Given the description of an element on the screen output the (x, y) to click on. 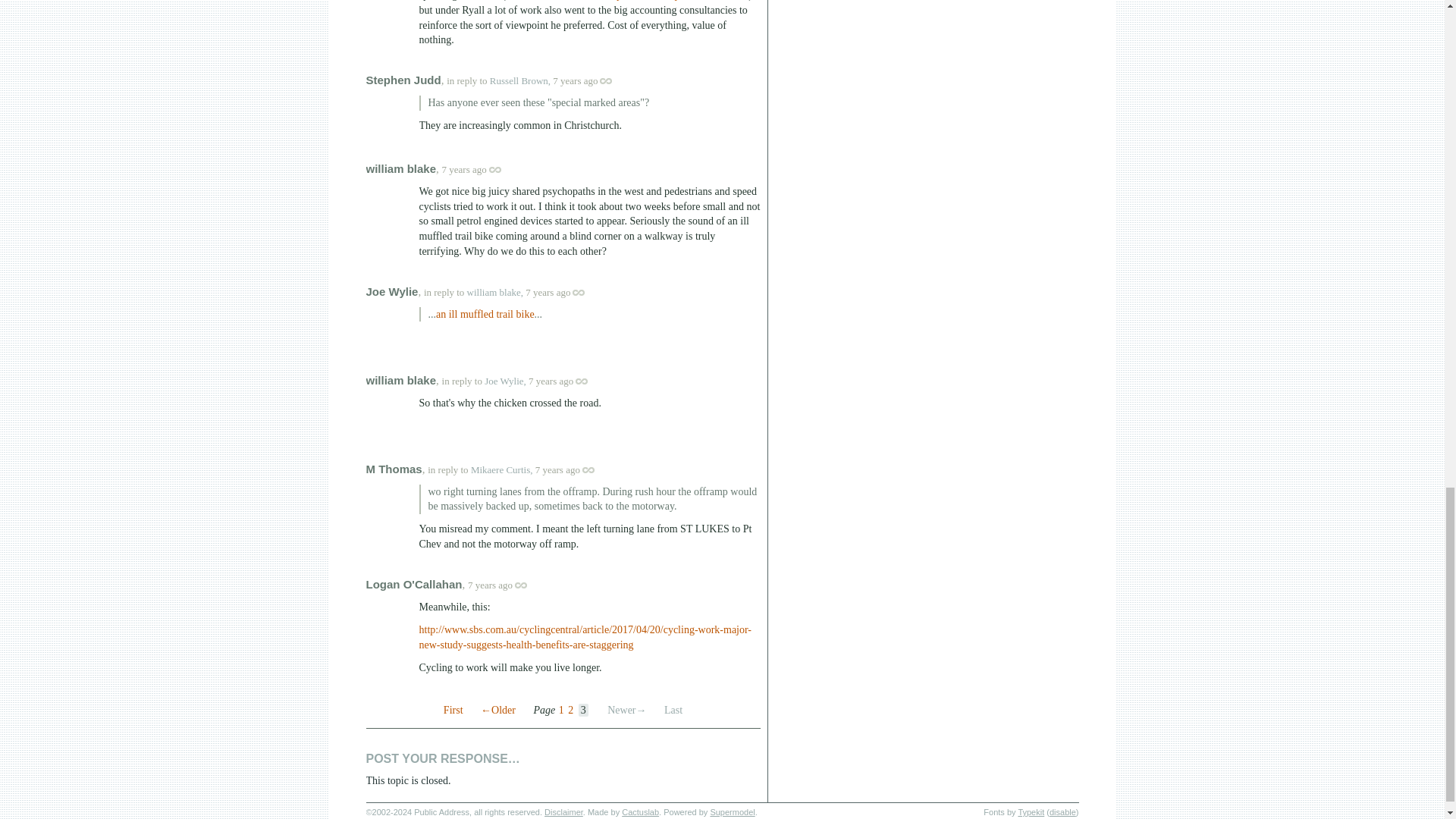
william blake (400, 168)
Stephen Judd (403, 79)
12:01 Apr 24, 2017 (574, 80)
14:55 Apr 24, 2017 (547, 292)
08:50 Apr 25, 2017 (550, 380)
Joe Wylie (391, 291)
7 years ago (590, 80)
10:54 Apr 30, 2017 (489, 584)
william blake, (494, 292)
